Given the description of an element on the screen output the (x, y) to click on. 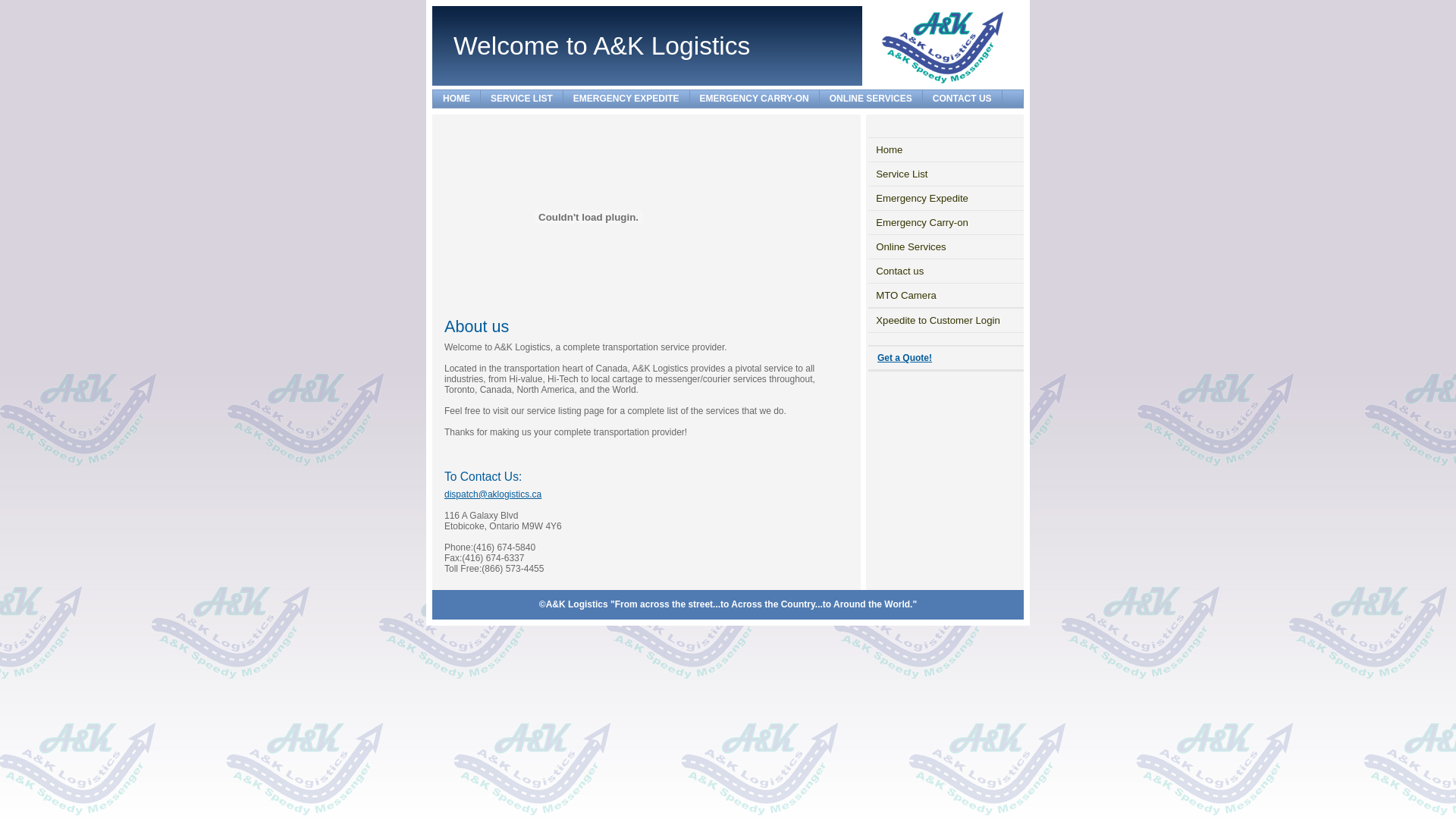
CONTACT US Element type: text (962, 98)
EMERGENCY EXPEDITE Element type: text (626, 98)
Emergency Expedite Element type: text (945, 198)
Service List Element type: text (945, 173)
Xpeedite to Customer Login Element type: text (945, 320)
EMERGENCY CARRY-ON Element type: text (754, 98)
Get a Quote! Element type: text (904, 357)
MTO Camera Element type: text (945, 295)
banner Element type: hover (588, 216)
dispatch@aklogistics.ca Element type: text (492, 494)
Contact us Element type: text (945, 270)
HOME Element type: text (456, 98)
Home Element type: text (945, 149)
ONLINE SERVICES Element type: text (870, 98)
Emergency Carry-on Element type: text (945, 222)
Online Services Element type: text (945, 246)
SERVICE LIST Element type: text (521, 98)
